Given the description of an element on the screen output the (x, y) to click on. 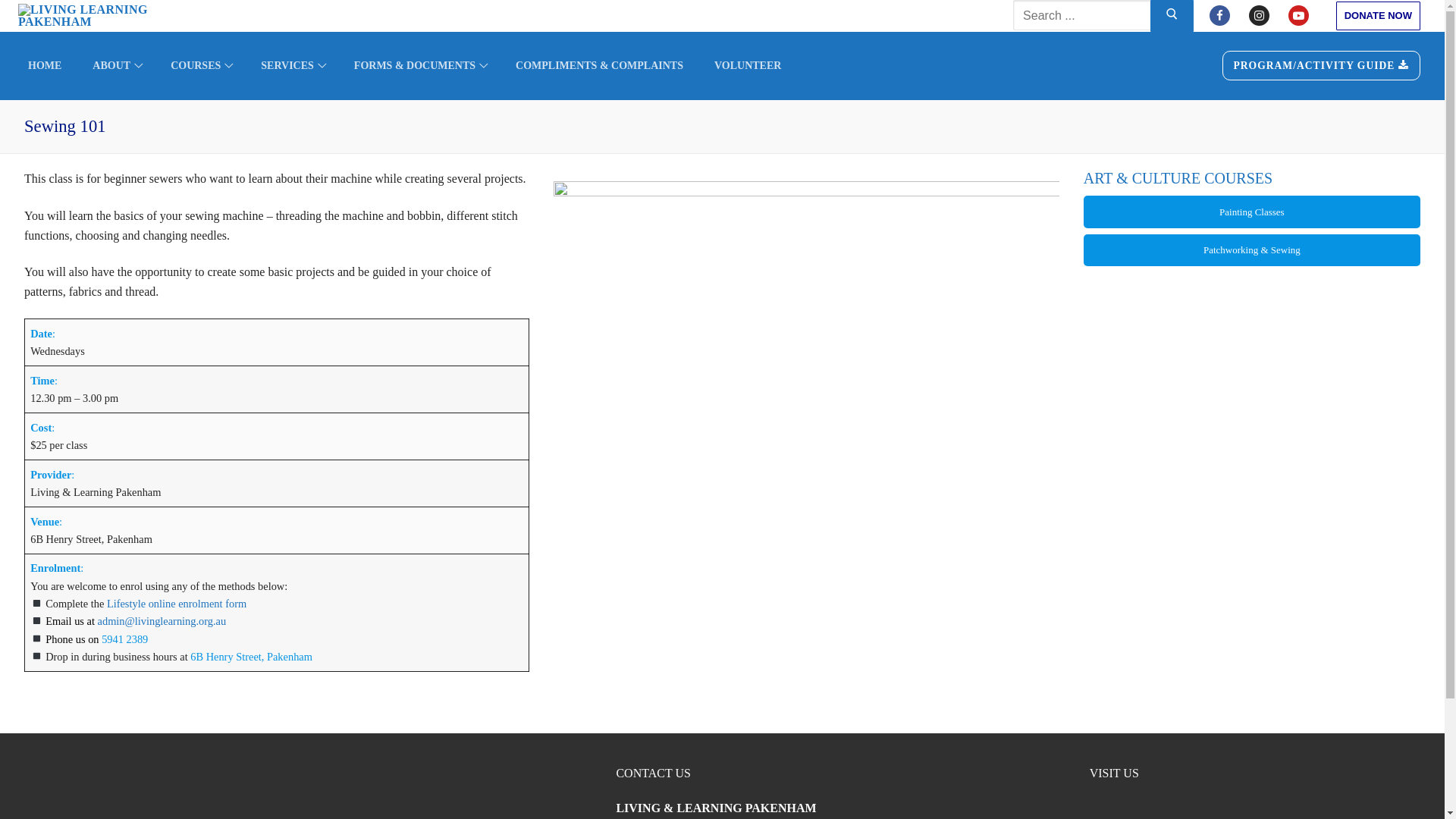
Painting Classes Element type: text (1251, 211)
VOLUNTEER Element type: text (747, 65)
DONATE NOW Element type: text (1378, 15)
COMPLIMENTS & COMPLAINTS Element type: text (599, 65)
FORMS & DOCUMENTS
  Element type: text (419, 65)
admin@livinglearning.org.au Element type: text (161, 621)
Facebook Element type: hover (1219, 15)
Youtube Element type: hover (1298, 15)
Instagram Element type: hover (1258, 15)
COURSES
  Element type: text (199, 65)
HOME Element type: text (44, 65)
PROGRAM/ACTIVITY GUIDE Element type: text (1321, 65)
ABOUT
  Element type: text (115, 65)
SERVICES
  Element type: text (291, 65)
Lifestyle online enrolment form Element type: text (176, 603)
Search for: Element type: hover (1098, 15)
DONATE NOW Element type: text (1378, 16)
Patchworking & Sewing Element type: text (1251, 250)
